Given the description of an element on the screen output the (x, y) to click on. 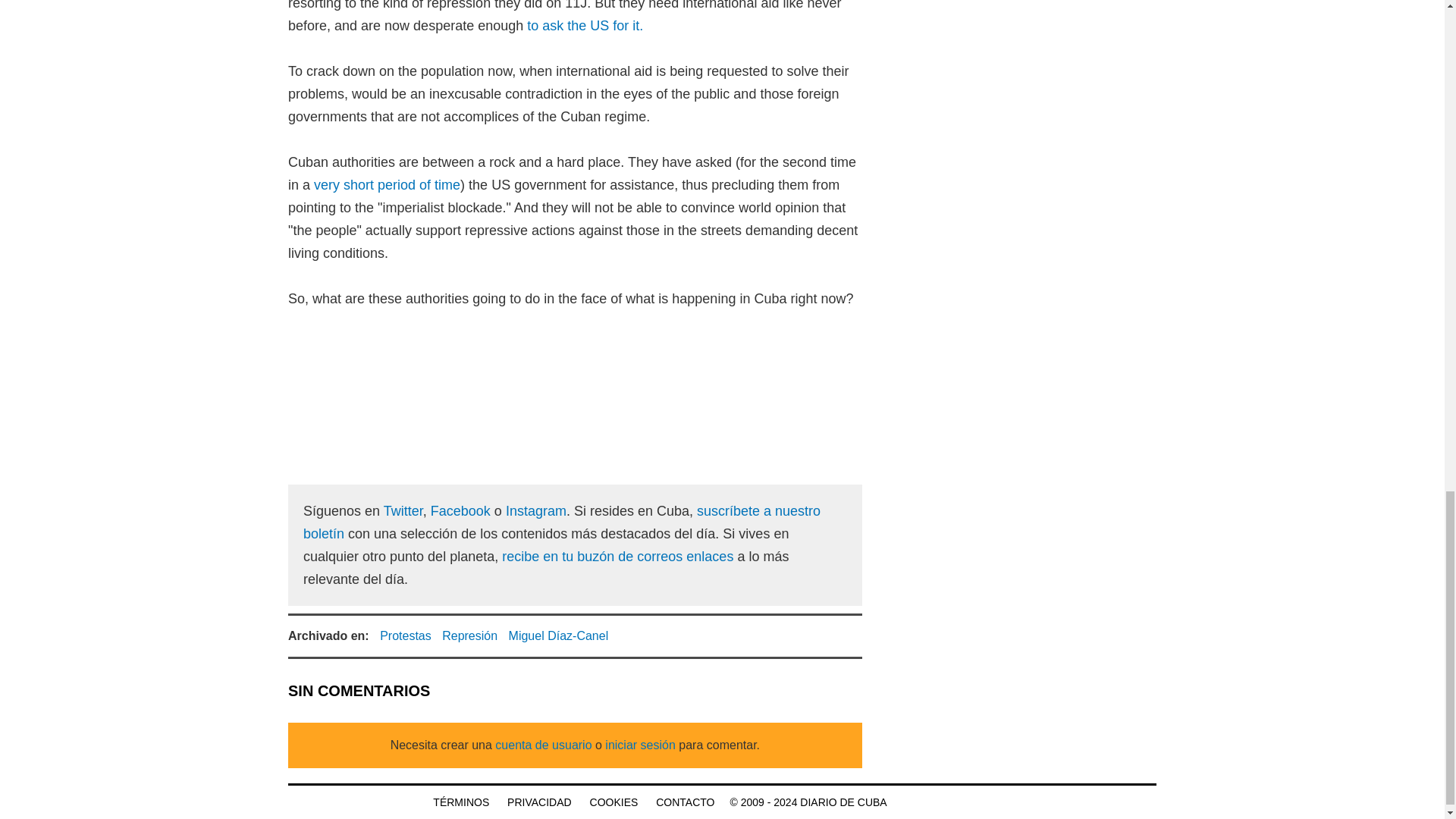
Twitter (403, 510)
PRIVACIDAD (539, 802)
Uso de cookies (614, 802)
Instagram (535, 510)
Facebook (460, 510)
Protestas (405, 635)
CONTACTO (685, 802)
to ask the US for it. (585, 25)
very short period of time (387, 184)
cuenta de usuario (545, 744)
COOKIES (614, 802)
